Given the description of an element on the screen output the (x, y) to click on. 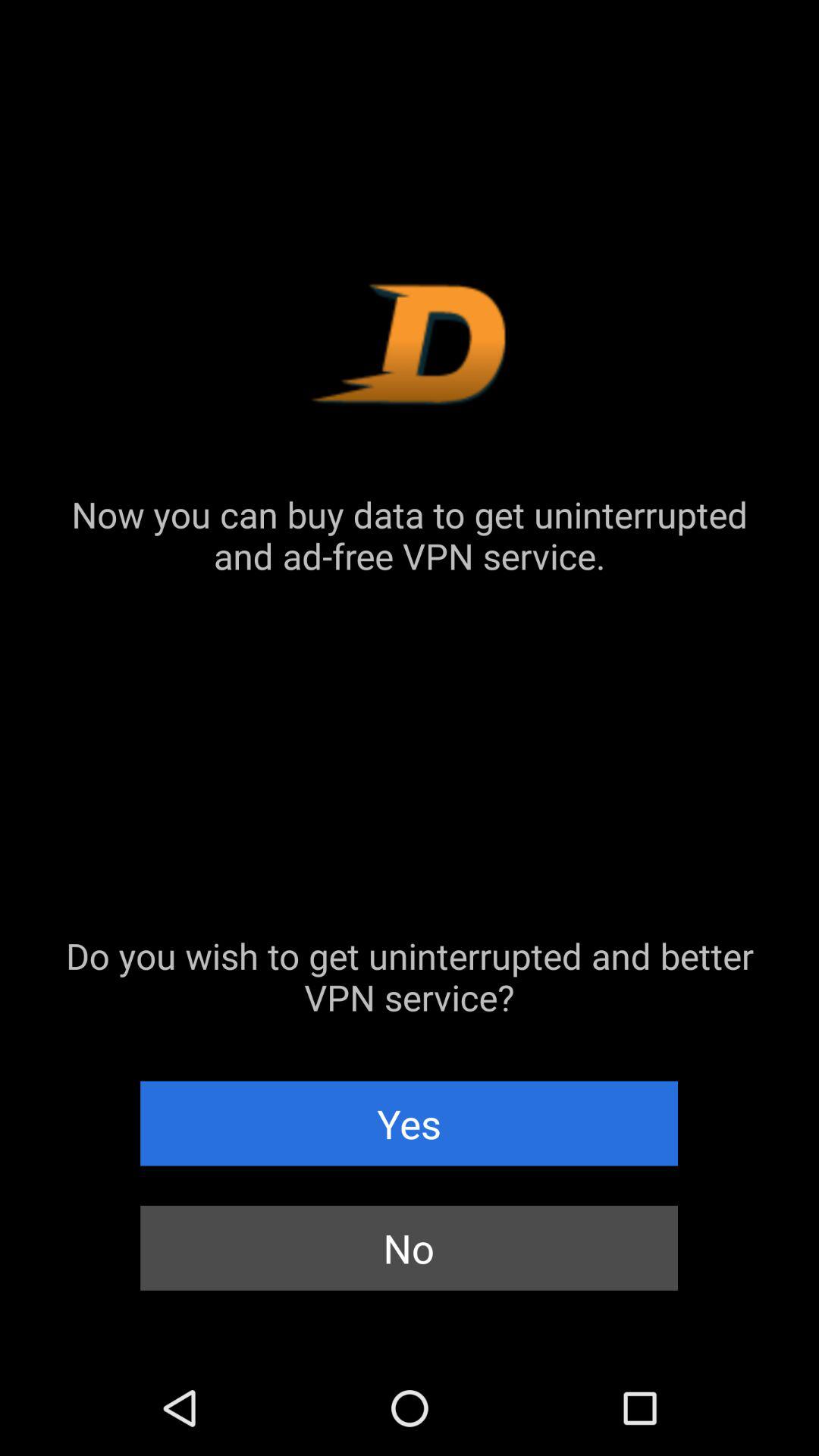
flip until the no icon (408, 1247)
